Given the description of an element on the screen output the (x, y) to click on. 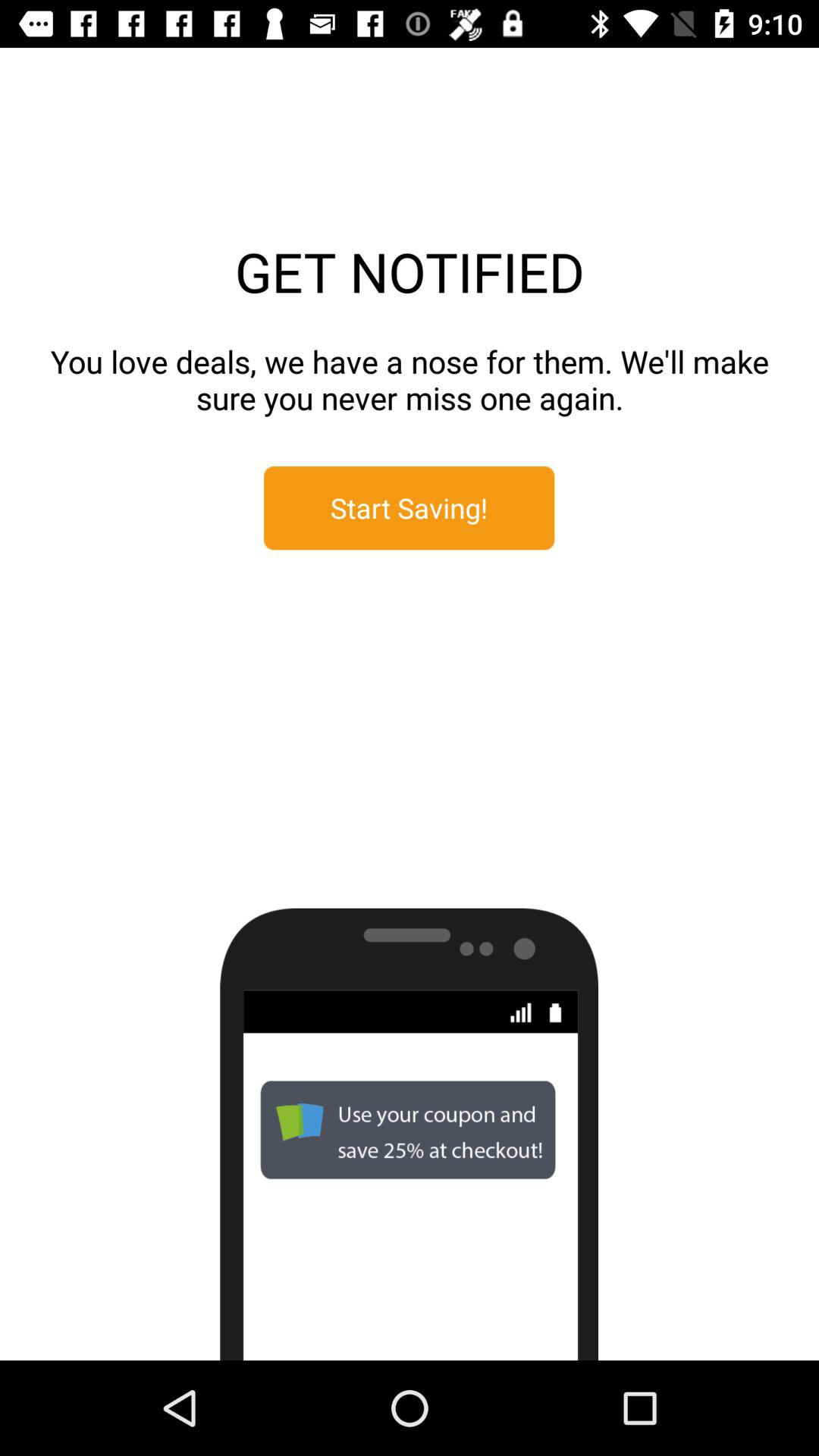
turn on start saving! item (408, 507)
